Given the description of an element on the screen output the (x, y) to click on. 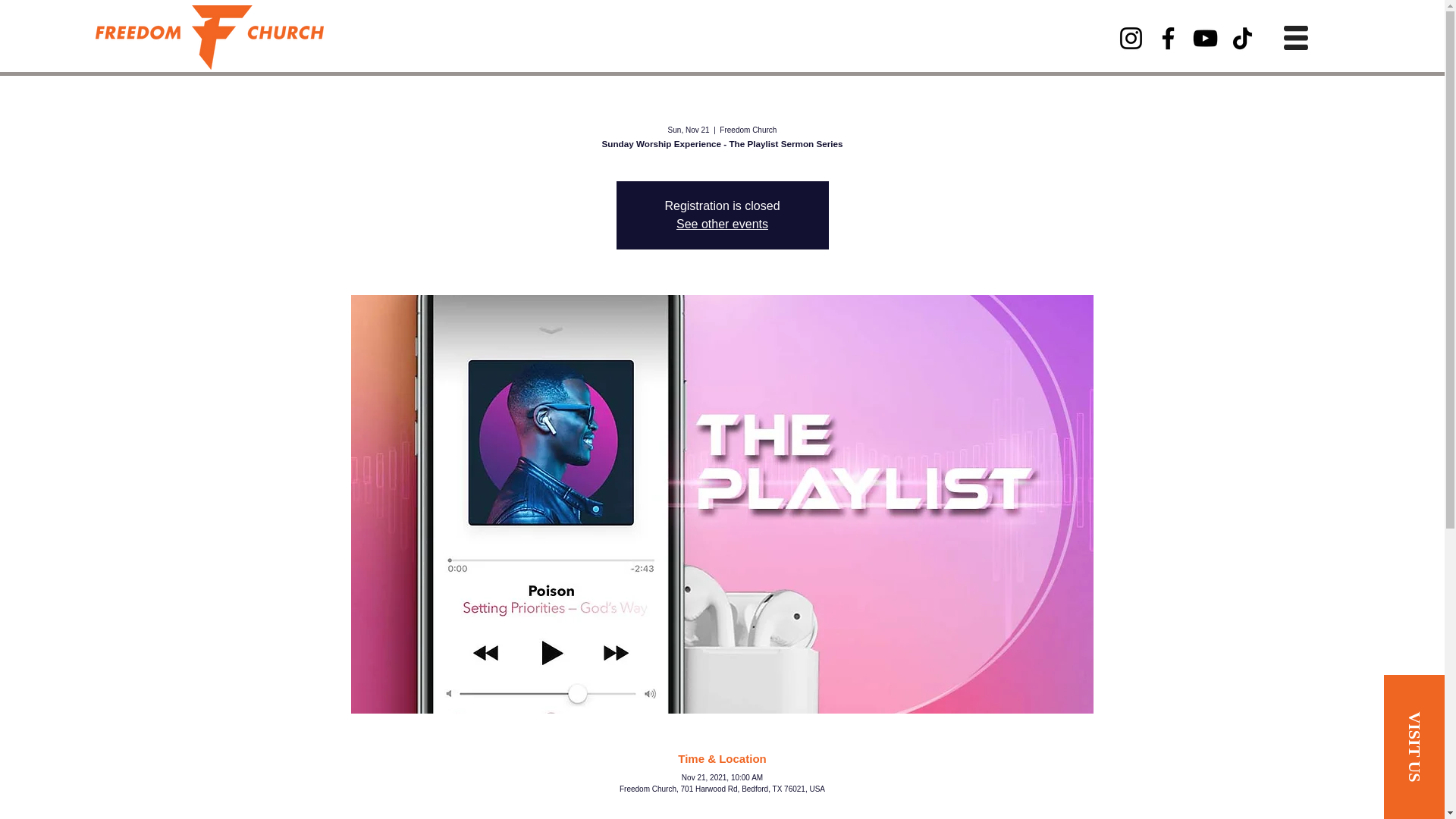
See other events (722, 223)
